Given the description of an element on the screen output the (x, y) to click on. 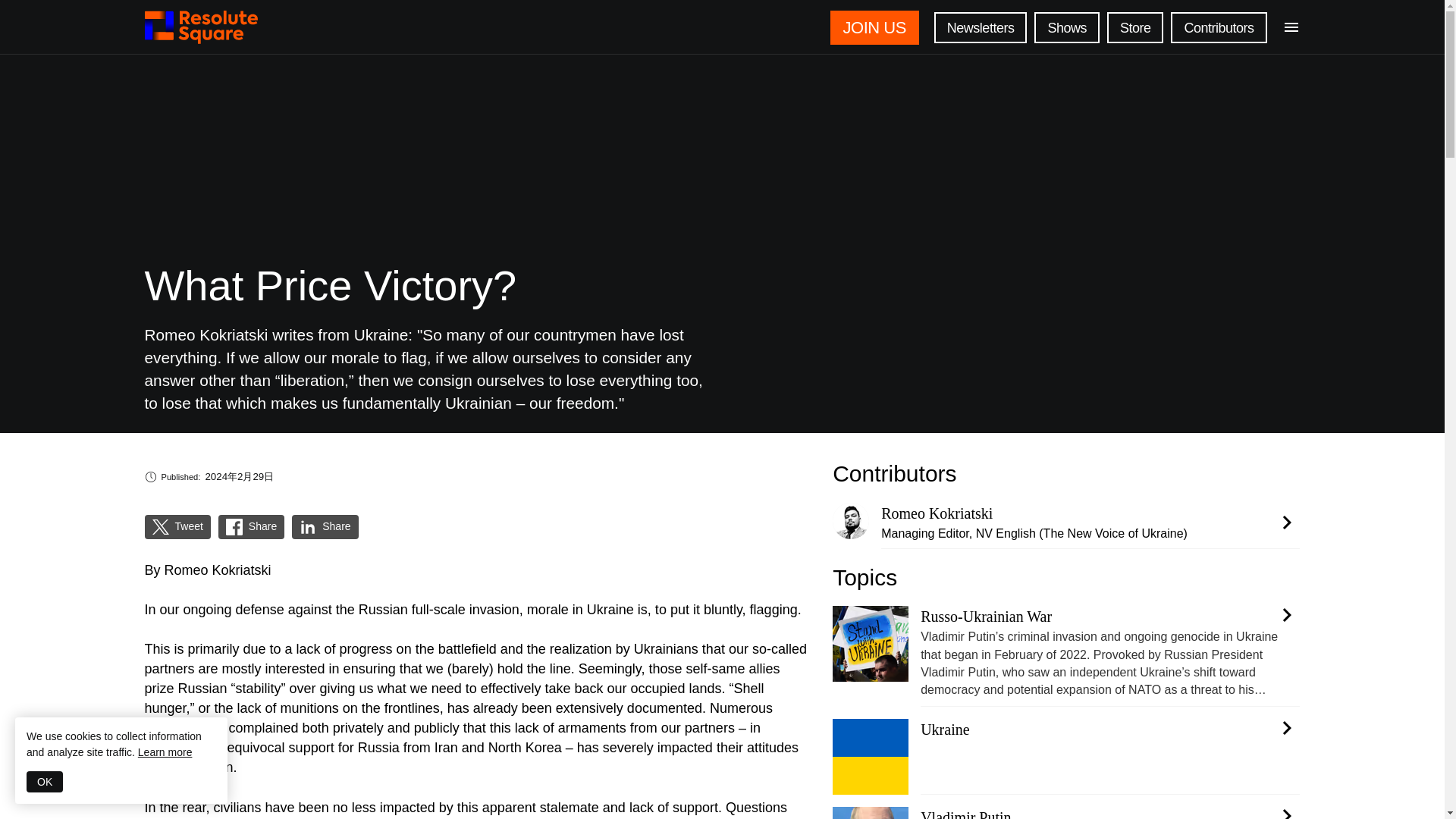
Contributors (1218, 27)
Newsletters (980, 27)
Share (250, 526)
Store (1134, 27)
Shows (1066, 27)
JOIN US (877, 27)
Tweet (176, 526)
Ukraine (1066, 812)
